Given the description of an element on the screen output the (x, y) to click on. 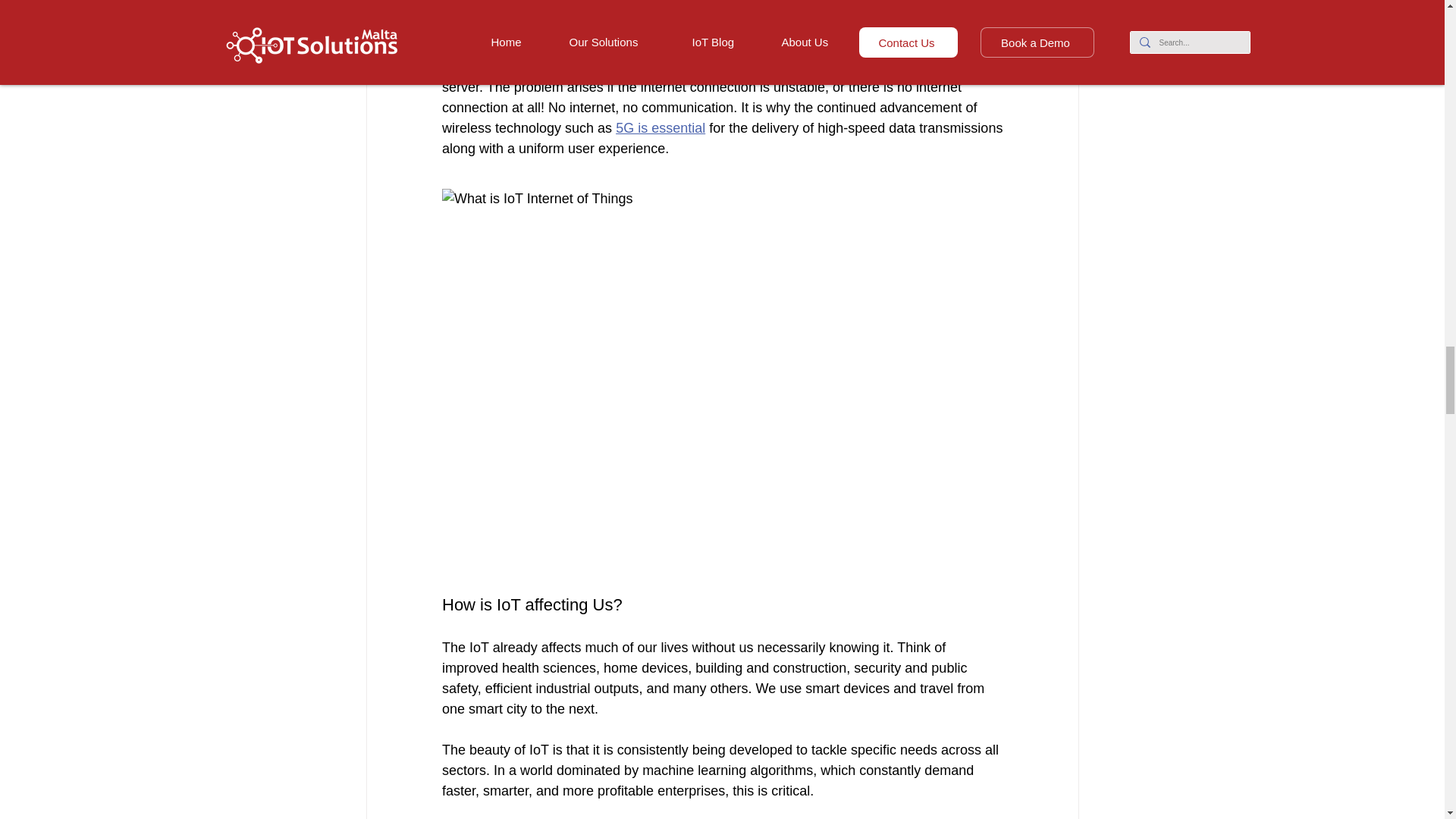
5G is essential (659, 127)
